Given the description of an element on the screen output the (x, y) to click on. 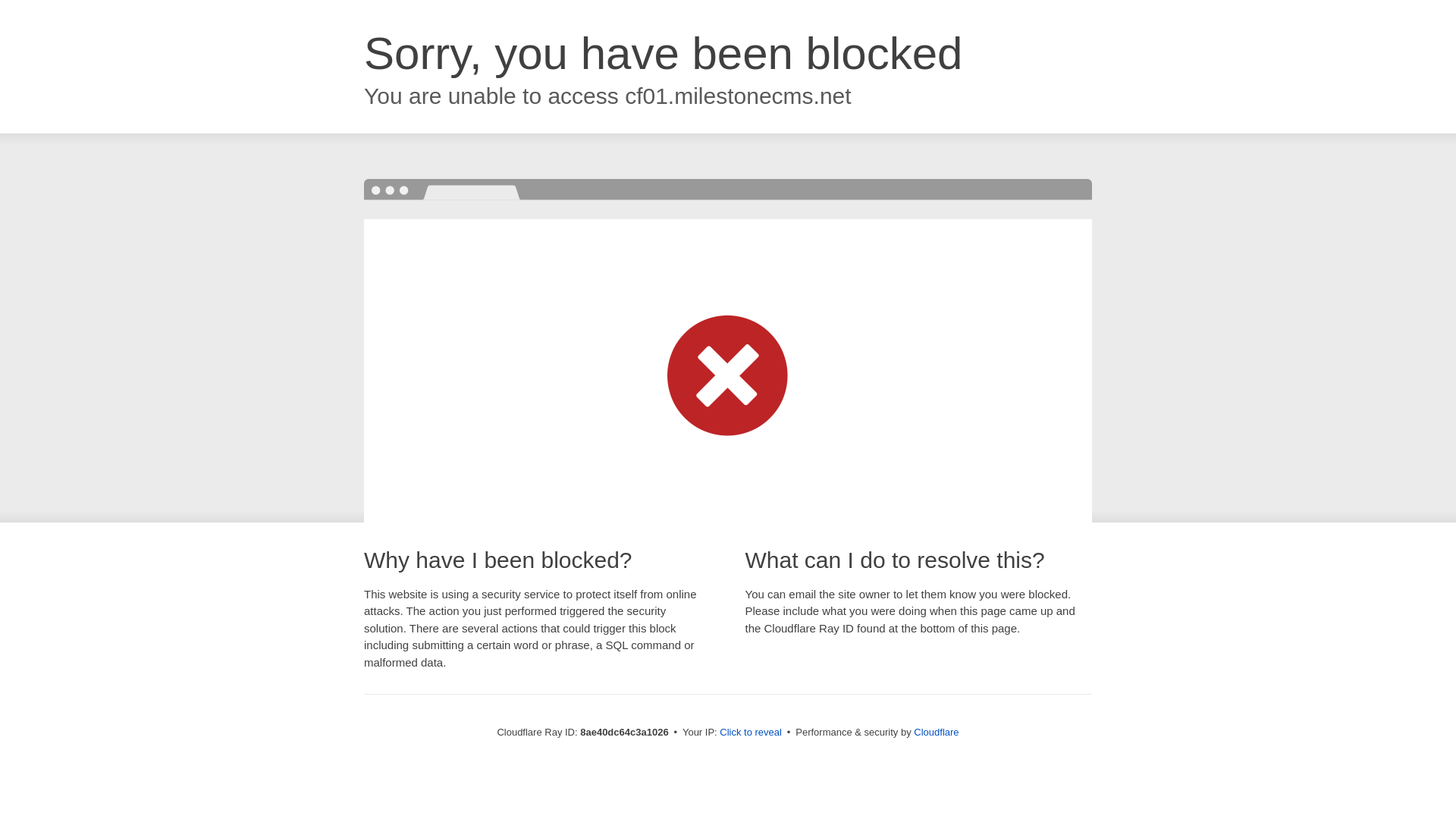
Click to reveal (750, 732)
Cloudflare (936, 731)
